Given the description of an element on the screen output the (x, y) to click on. 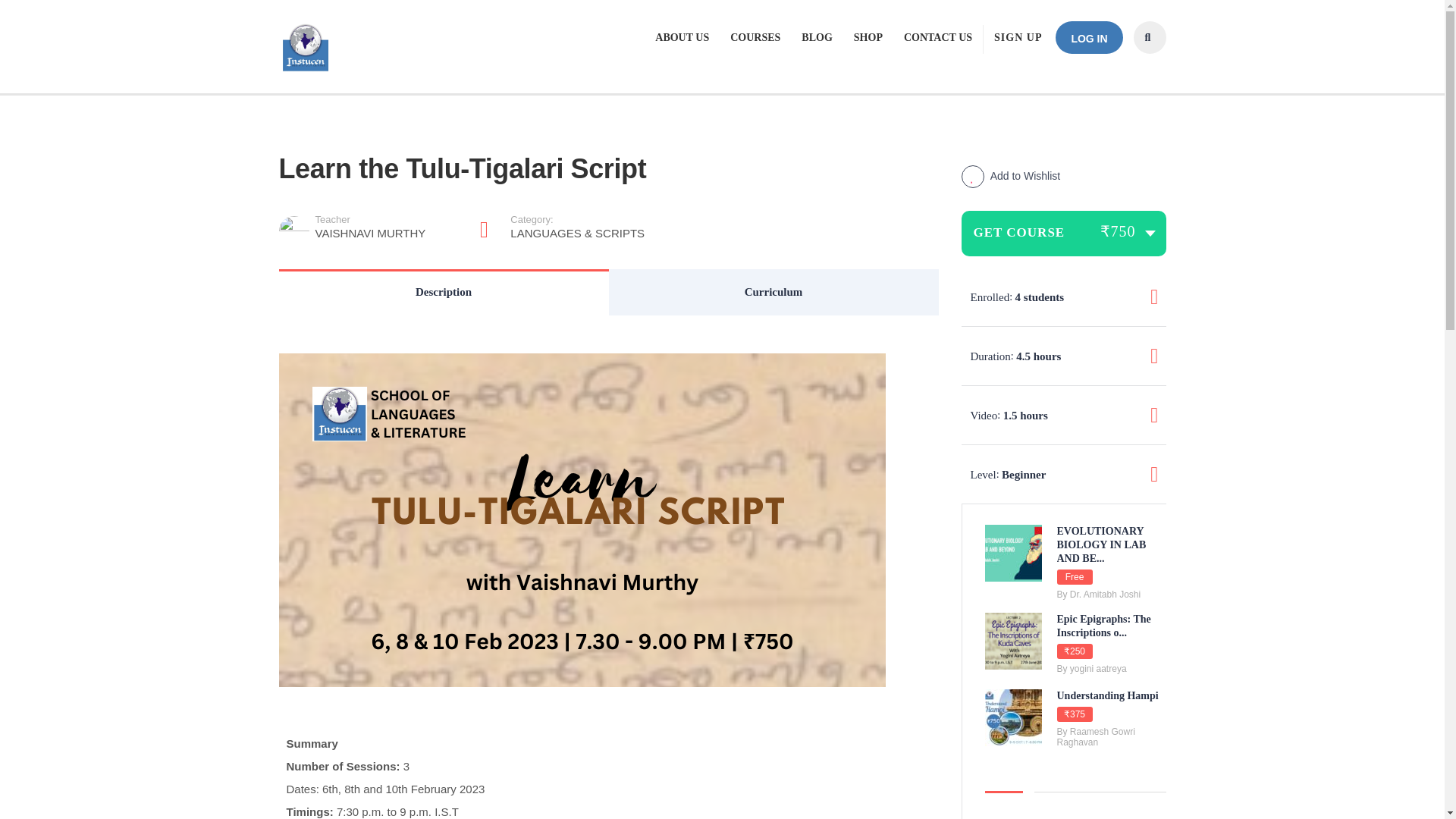
Add to Wishlist (1010, 175)
LOG IN (1088, 37)
ABOUT US (682, 37)
SIGN UP (1018, 37)
COURSES (755, 37)
CONTACT US (938, 37)
Curriculum (373, 230)
SHOP (772, 292)
Description (867, 37)
BLOG (443, 292)
